Given the description of an element on the screen output the (x, y) to click on. 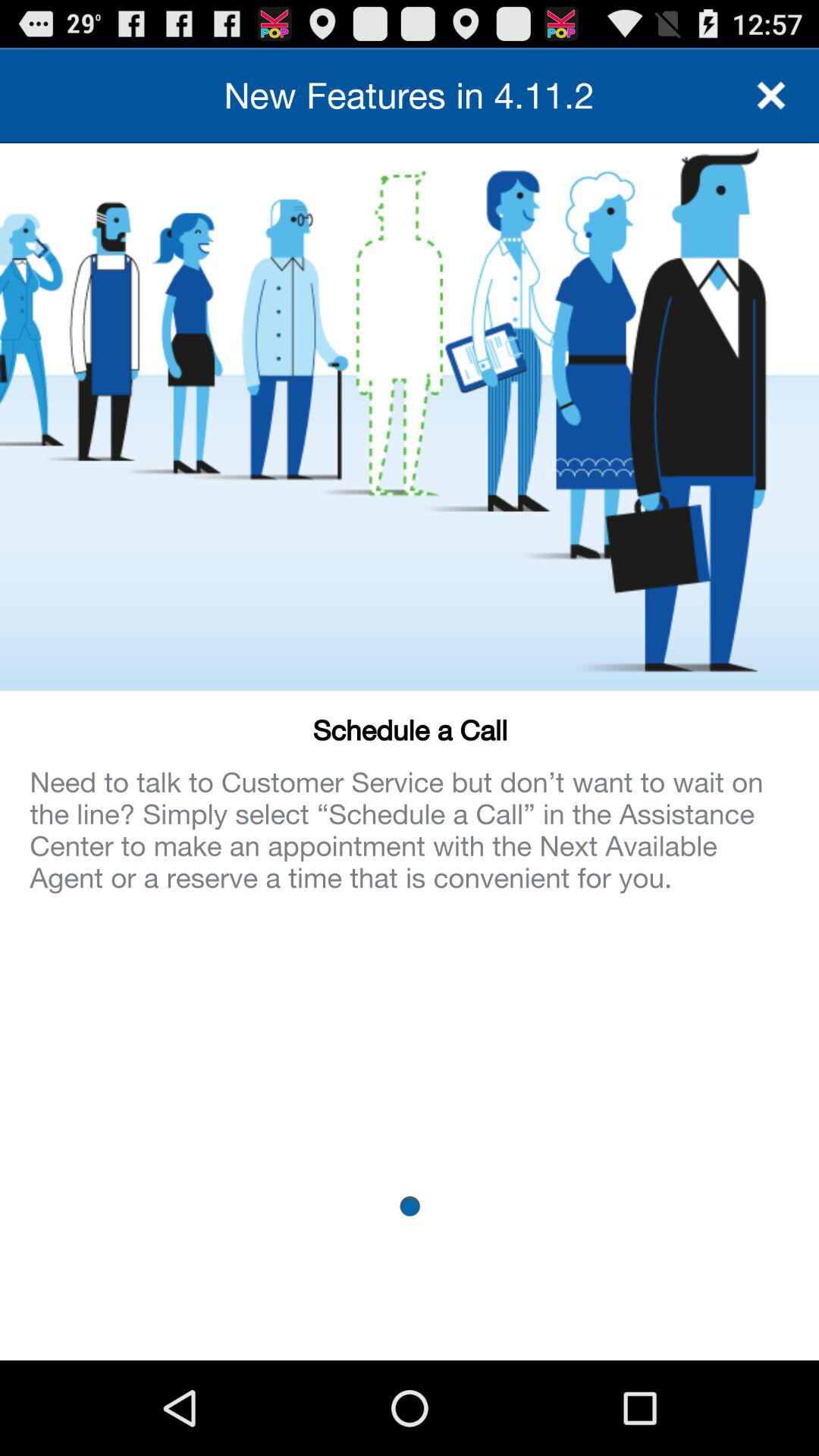
close window (771, 95)
